Given the description of an element on the screen output the (x, y) to click on. 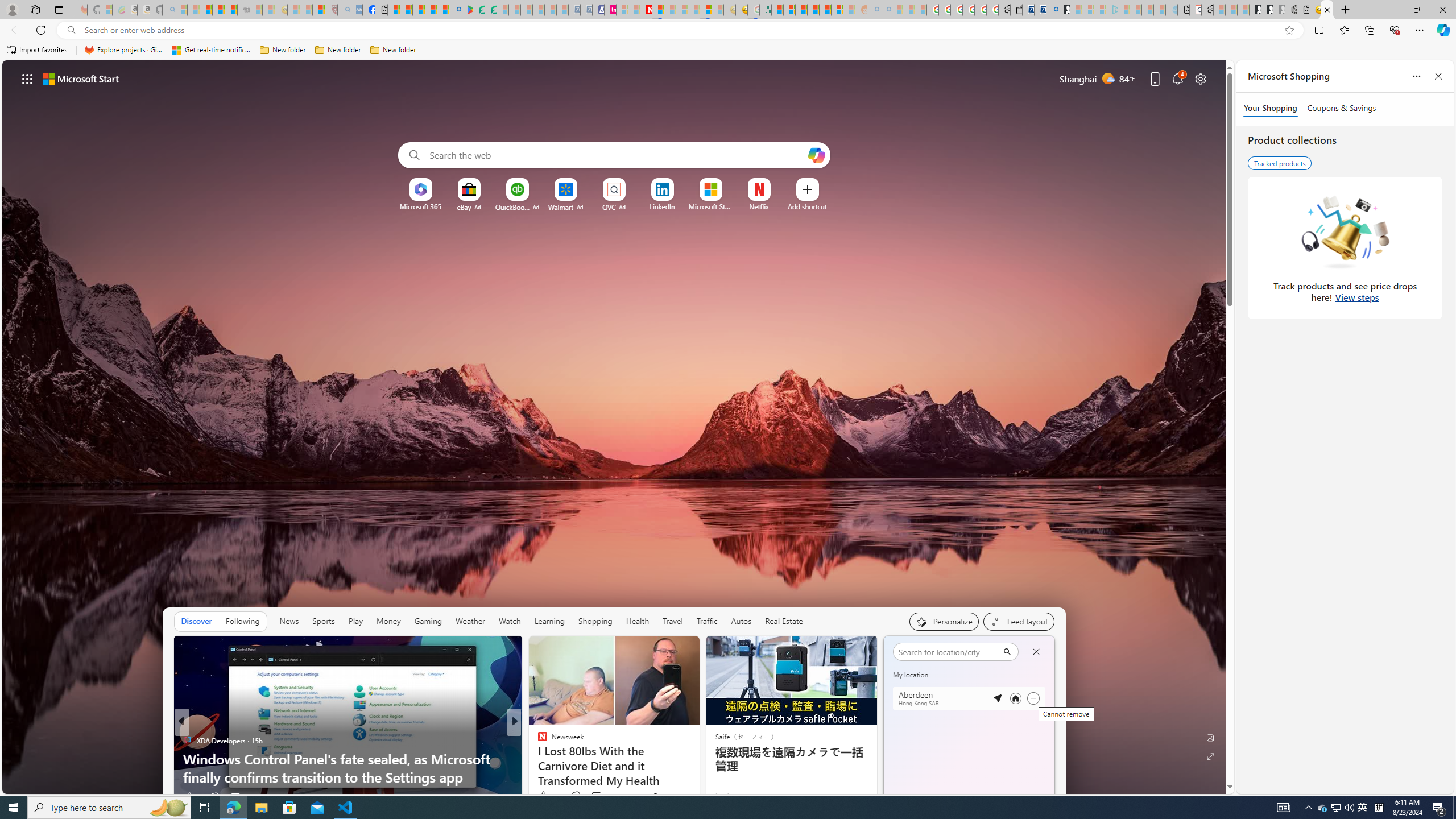
6 Like (541, 796)
